Given the description of an element on the screen output the (x, y) to click on. 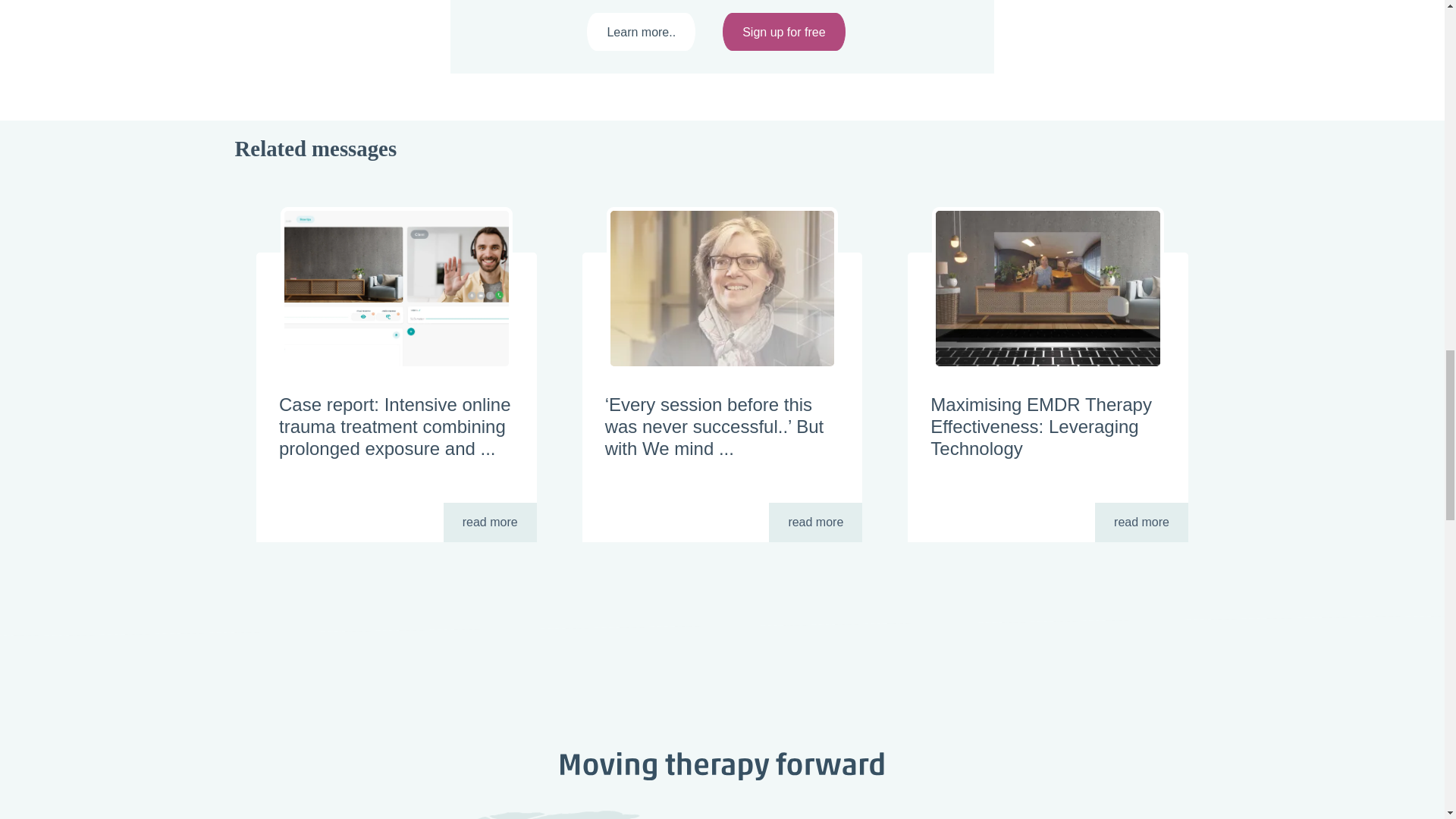
Sign up for free (783, 31)
Learn more.. (640, 31)
